Given the description of an element on the screen output the (x, y) to click on. 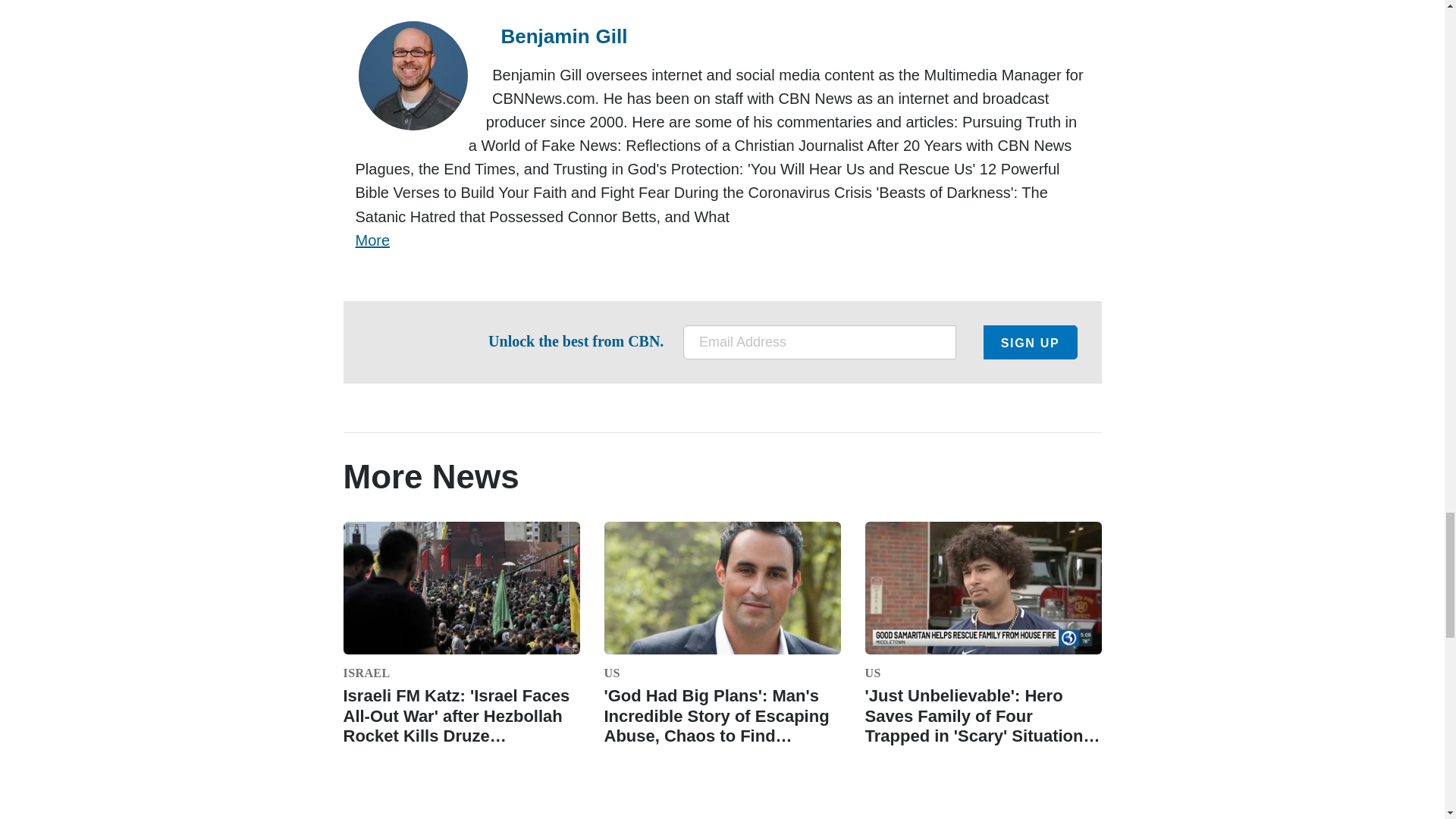
sign up (1029, 342)
